Given the description of an element on the screen output the (x, y) to click on. 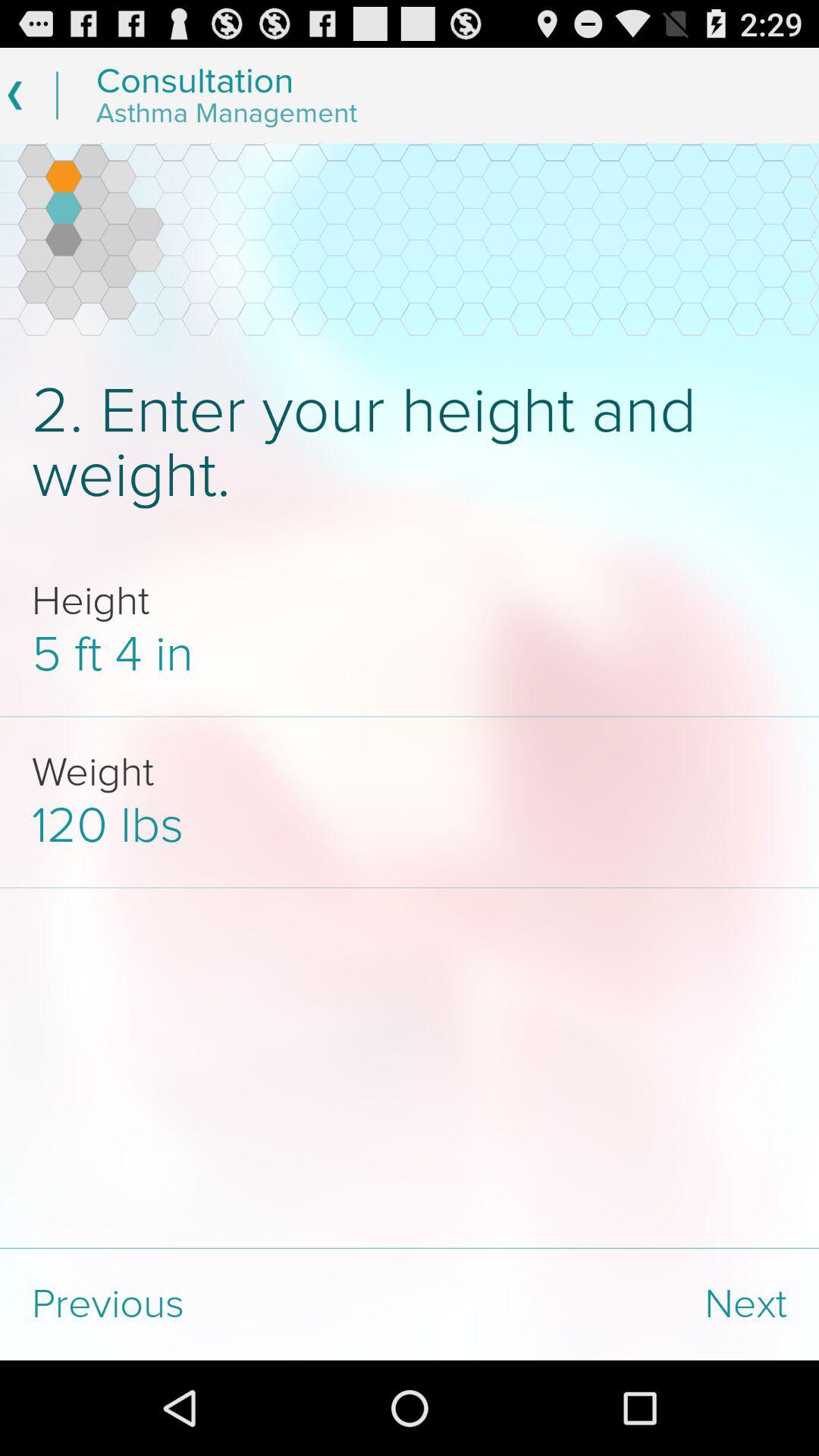
turn on next item (614, 1304)
